Given the description of an element on the screen output the (x, y) to click on. 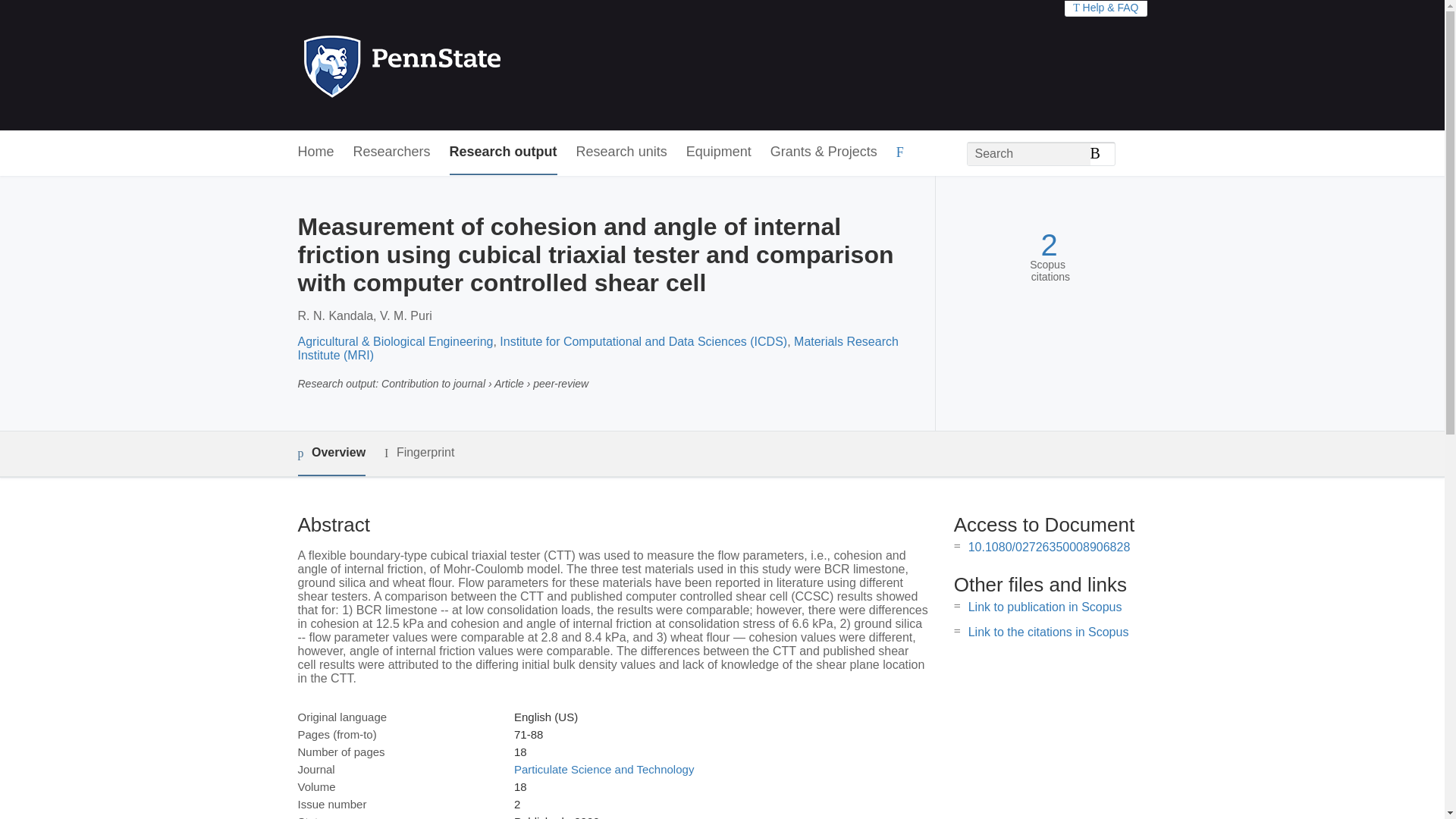
Link to publication in Scopus (1045, 606)
Researchers (391, 152)
Particulate Science and Technology (603, 768)
Research output (503, 152)
Research units (621, 152)
Overview (331, 453)
Link to the citations in Scopus (1048, 631)
Penn State Home (467, 65)
Fingerprint (419, 453)
